Given the description of an element on the screen output the (x, y) to click on. 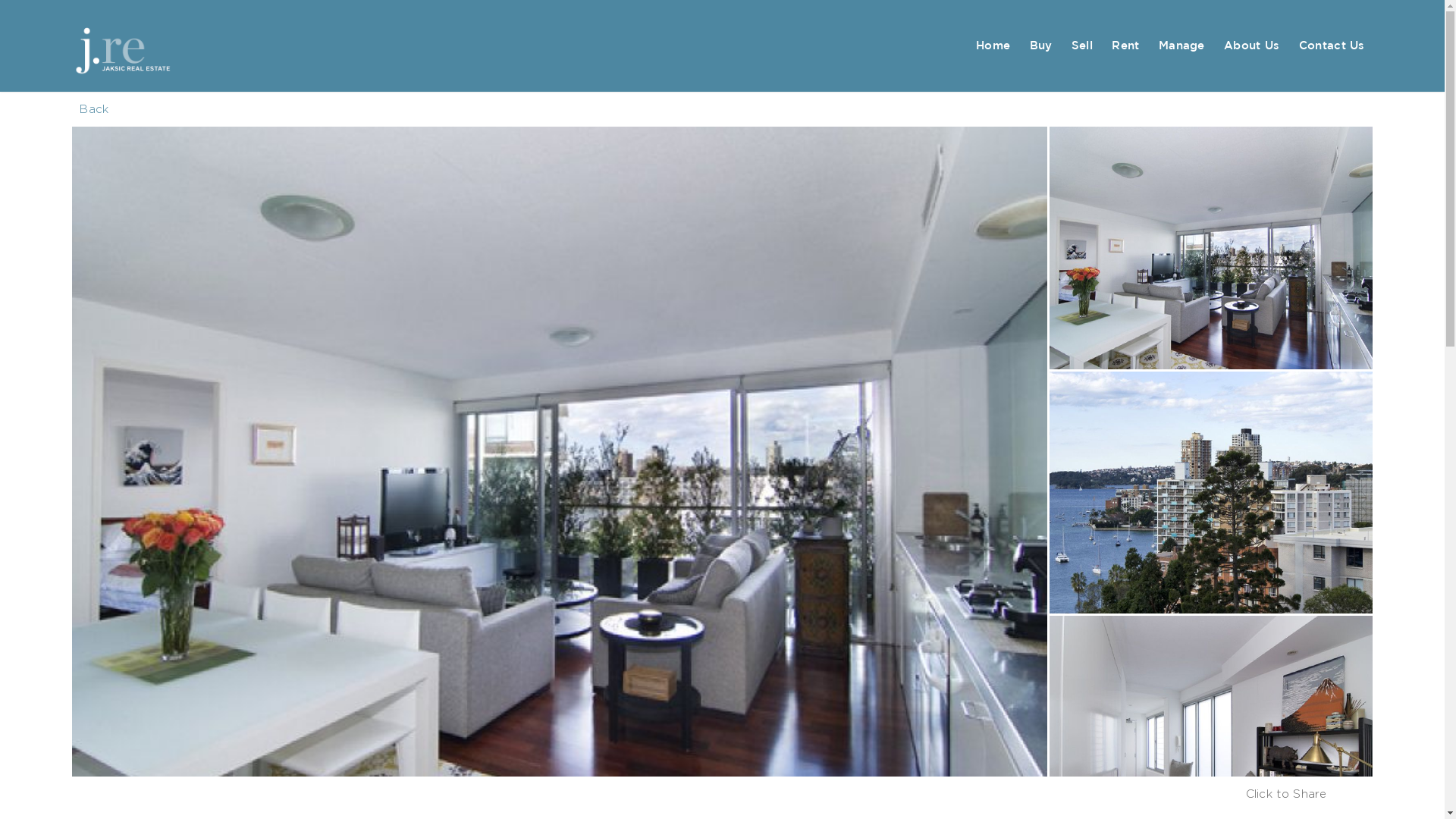
About Us Element type: text (1251, 45)
Home Element type: text (992, 45)
Sell Element type: text (1081, 45)
Contact Us Element type: text (1331, 45)
Buy Element type: text (1041, 45)
Back Element type: text (93, 108)
Rent Element type: text (1125, 45)
Jaksic Real Estate -  Element type: hover (150, 45)
Manage Element type: text (1181, 45)
